Given the description of an element on the screen output the (x, y) to click on. 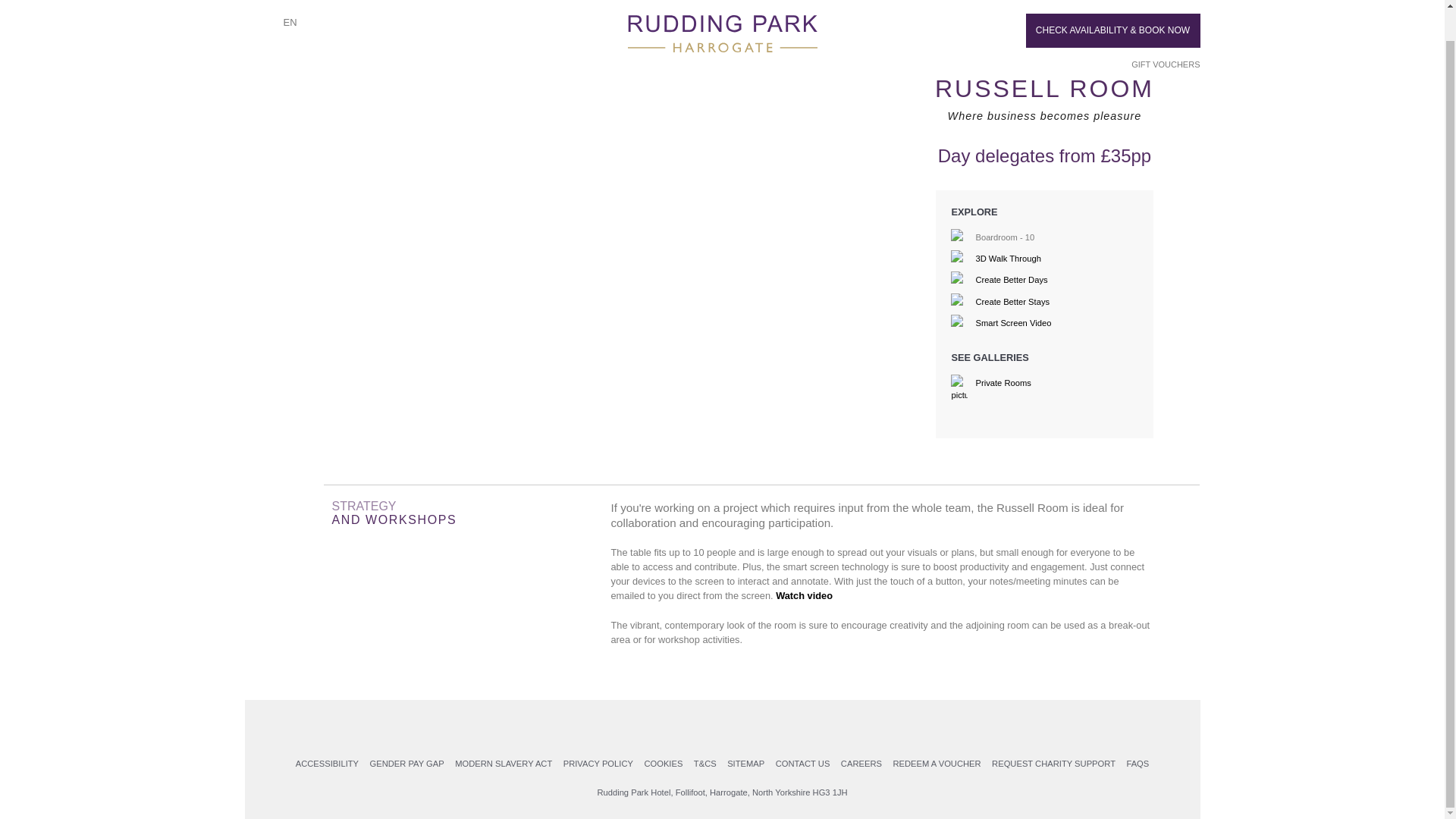
GIFT VOUCHERS (1159, 32)
Russel Function Room Models (605, 68)
ShowMenu (255, 4)
